Given the description of an element on the screen output the (x, y) to click on. 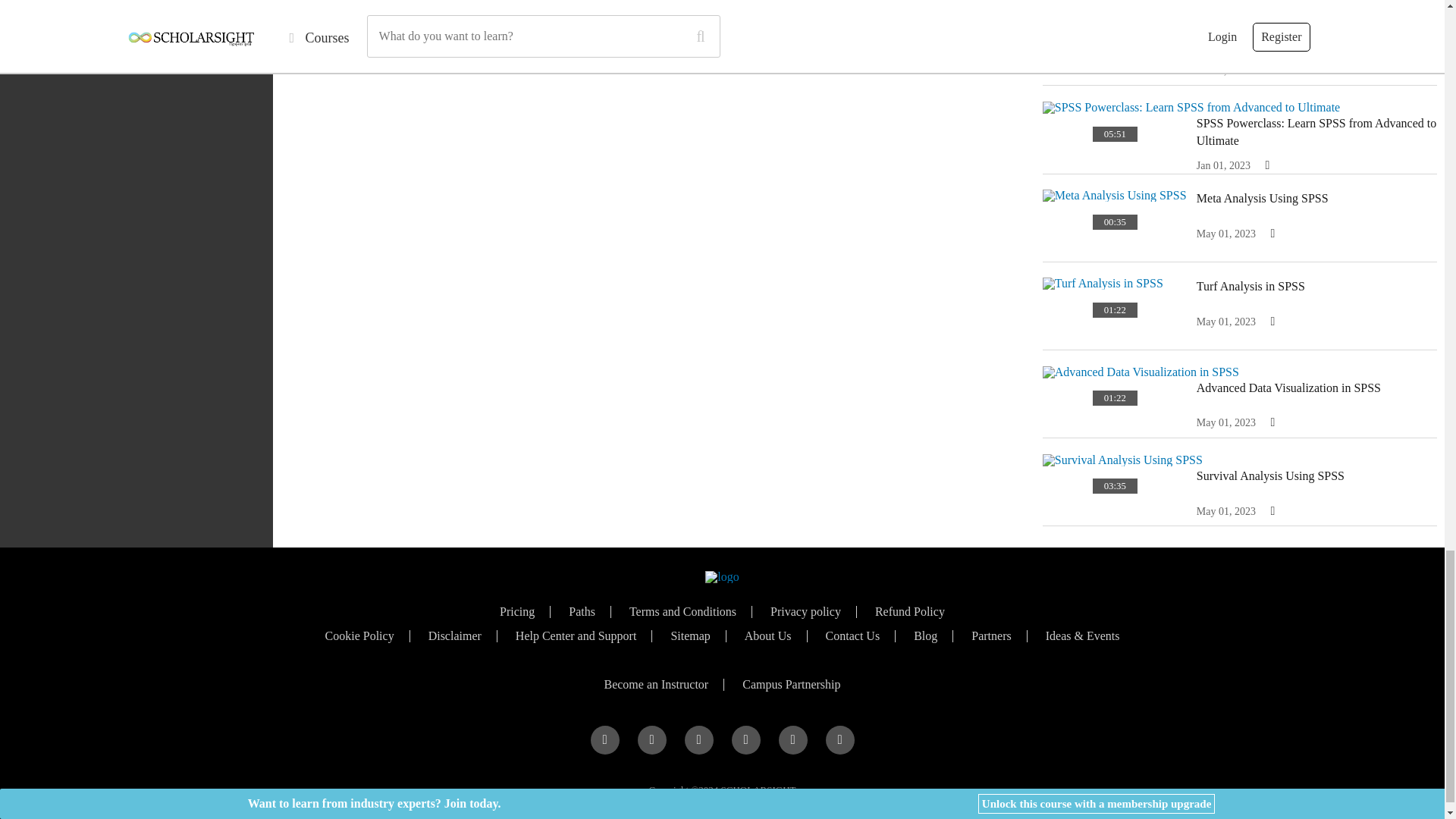
Register an Institute (791, 684)
Become an Instructor (655, 684)
